Given the description of an element on the screen output the (x, y) to click on. 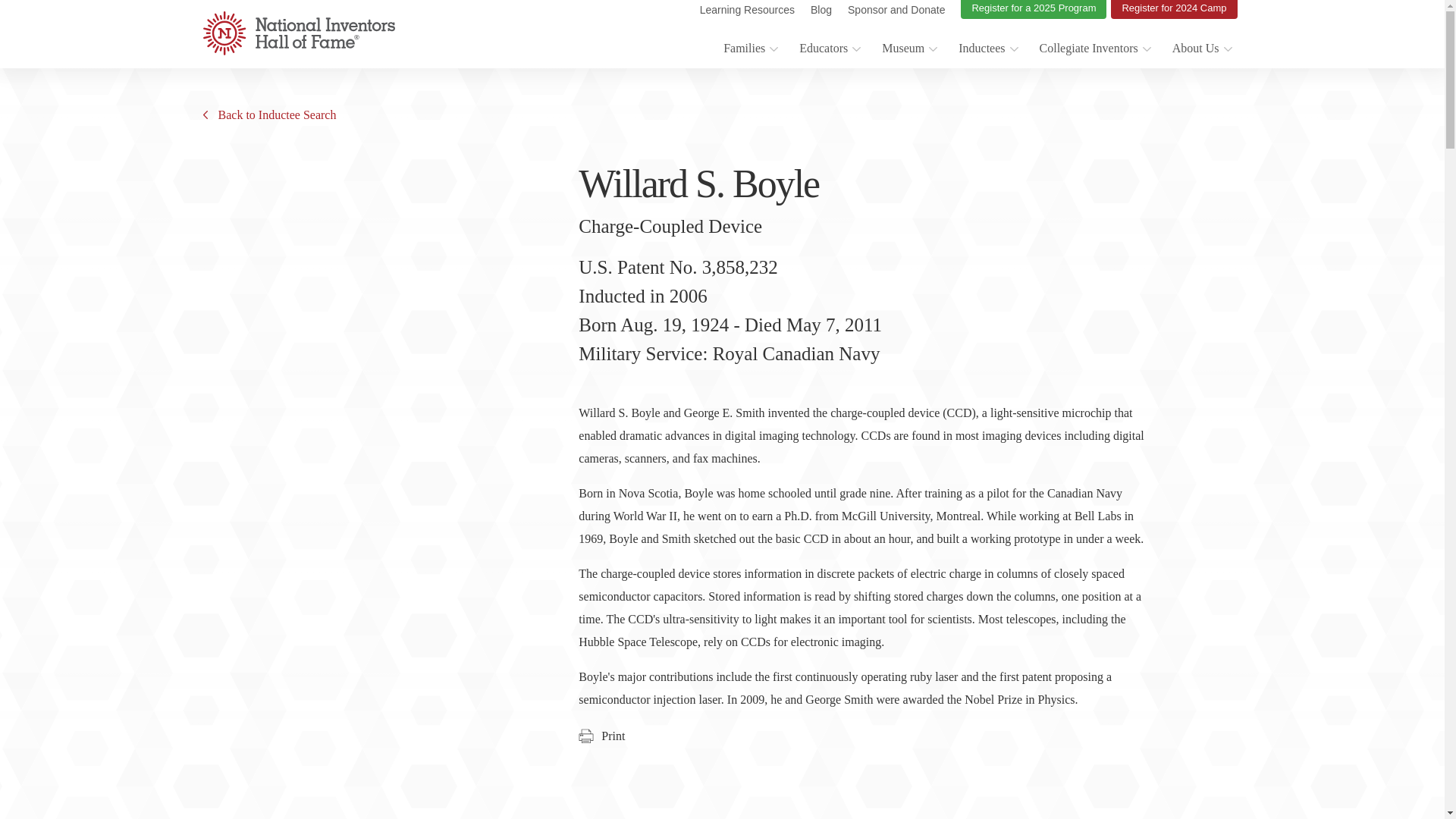
About Us (1201, 49)
Educators (829, 49)
Inductees (987, 49)
Museum (909, 49)
National Inventors Hall of Fame (298, 33)
Families (749, 49)
Collegiate Inventors (1094, 49)
